Given the description of an element on the screen output the (x, y) to click on. 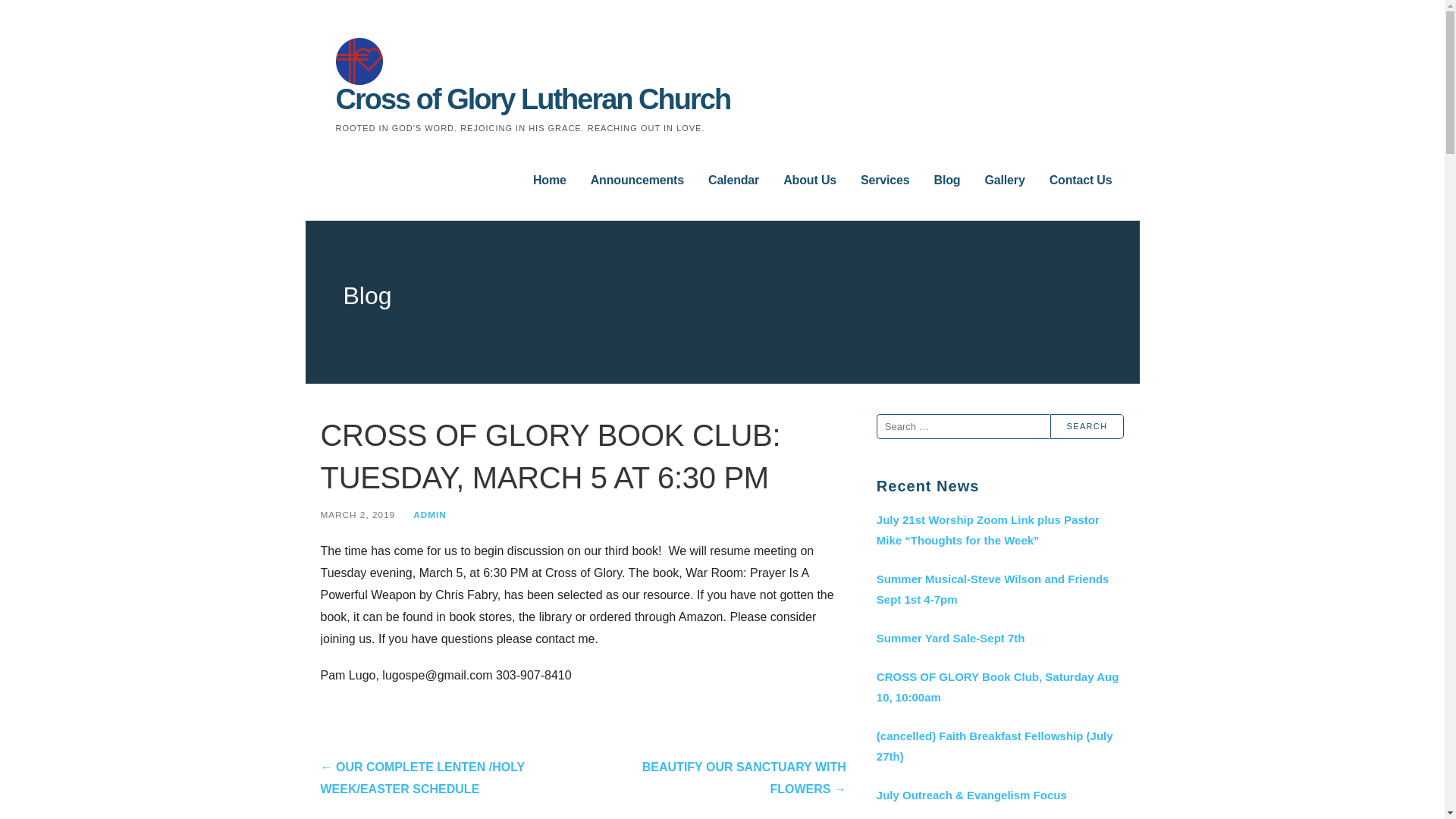
Posts by admin (429, 514)
Search (1086, 426)
Services (885, 181)
Announcements (637, 181)
Home (549, 181)
ADMIN (429, 514)
Search (1086, 426)
Cross of Glory Lutheran Church (532, 99)
Summer Musical-Steve Wilson and Friends Sept 1st 4-7pm (1000, 588)
Gallery (1004, 181)
CROSS OF GLORY Book Club, Saturday Aug 10, 10:00am (1000, 686)
About Us (809, 181)
Calendar (732, 181)
Search (1086, 426)
Summer Yard Sale-Sept 7th (1000, 638)
